Given the description of an element on the screen output the (x, y) to click on. 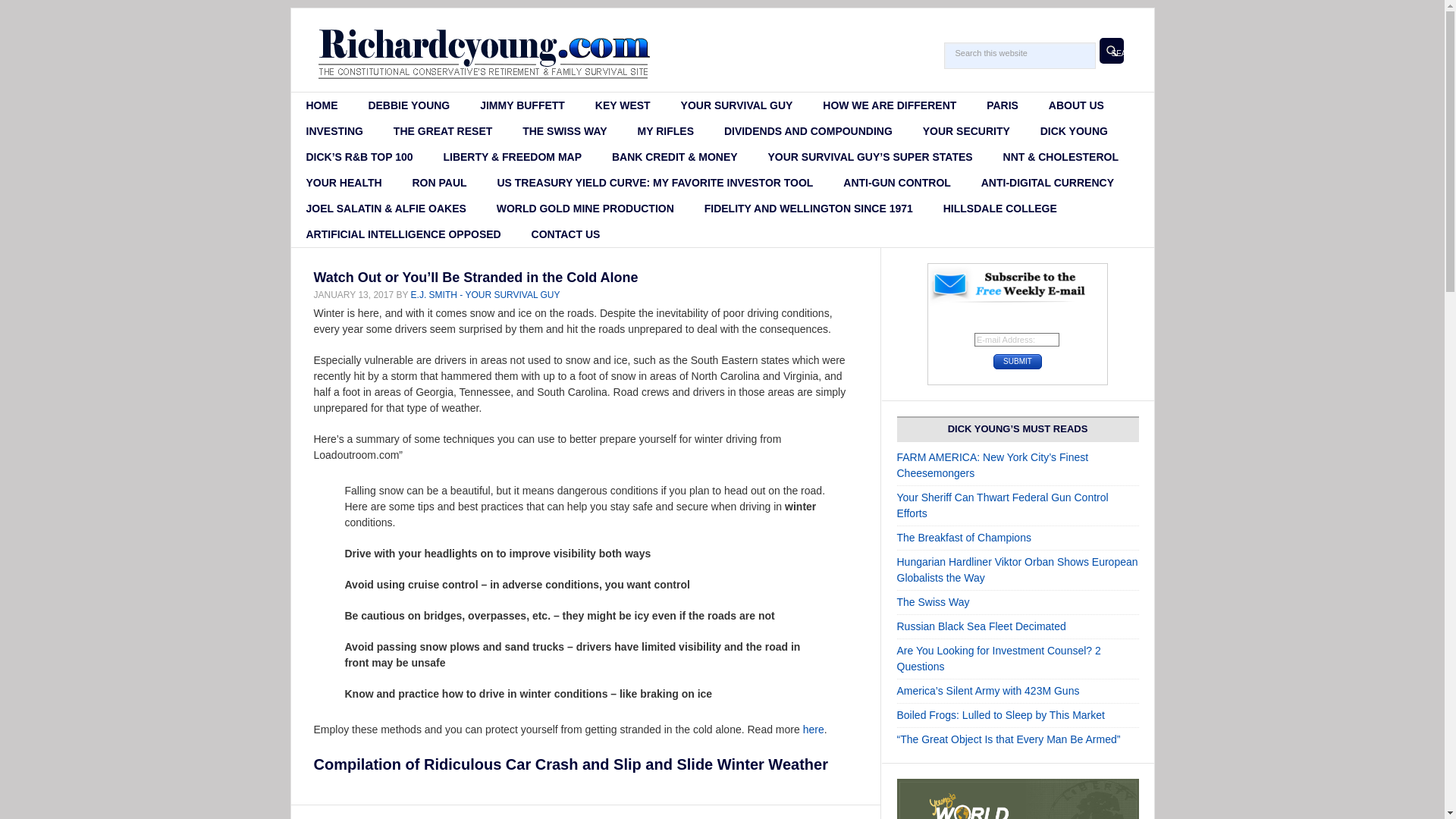
WORLD GOLD MINE PRODUCTION (584, 208)
DICK YOUNG (1073, 130)
HOW WE ARE DIFFERENT (889, 104)
Search (1111, 50)
HOME (322, 104)
ABOUT US (1076, 104)
YOUR SECURITY (966, 130)
E.J. SMITH - YOUR SURVIVAL GUY (485, 294)
INVESTING (334, 130)
ANTI-DIGITAL CURRENCY (1047, 182)
